Given the description of an element on the screen output the (x, y) to click on. 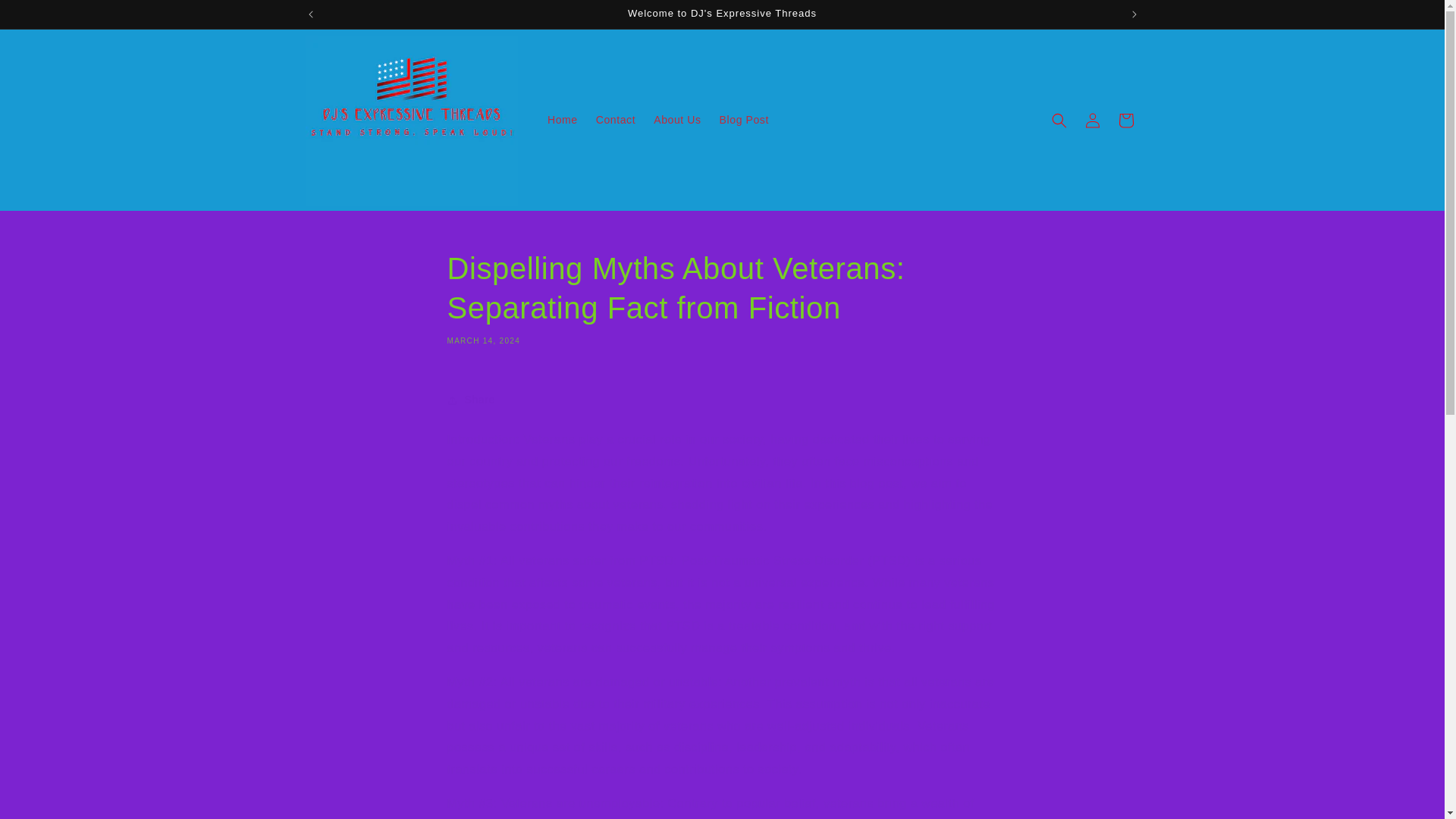
Skip to content (47, 18)
Home (562, 119)
Contact (615, 119)
Share (721, 400)
Log in (1091, 119)
Cart (1124, 119)
About Us (677, 119)
Blog Post (743, 119)
